Given the description of an element on the screen output the (x, y) to click on. 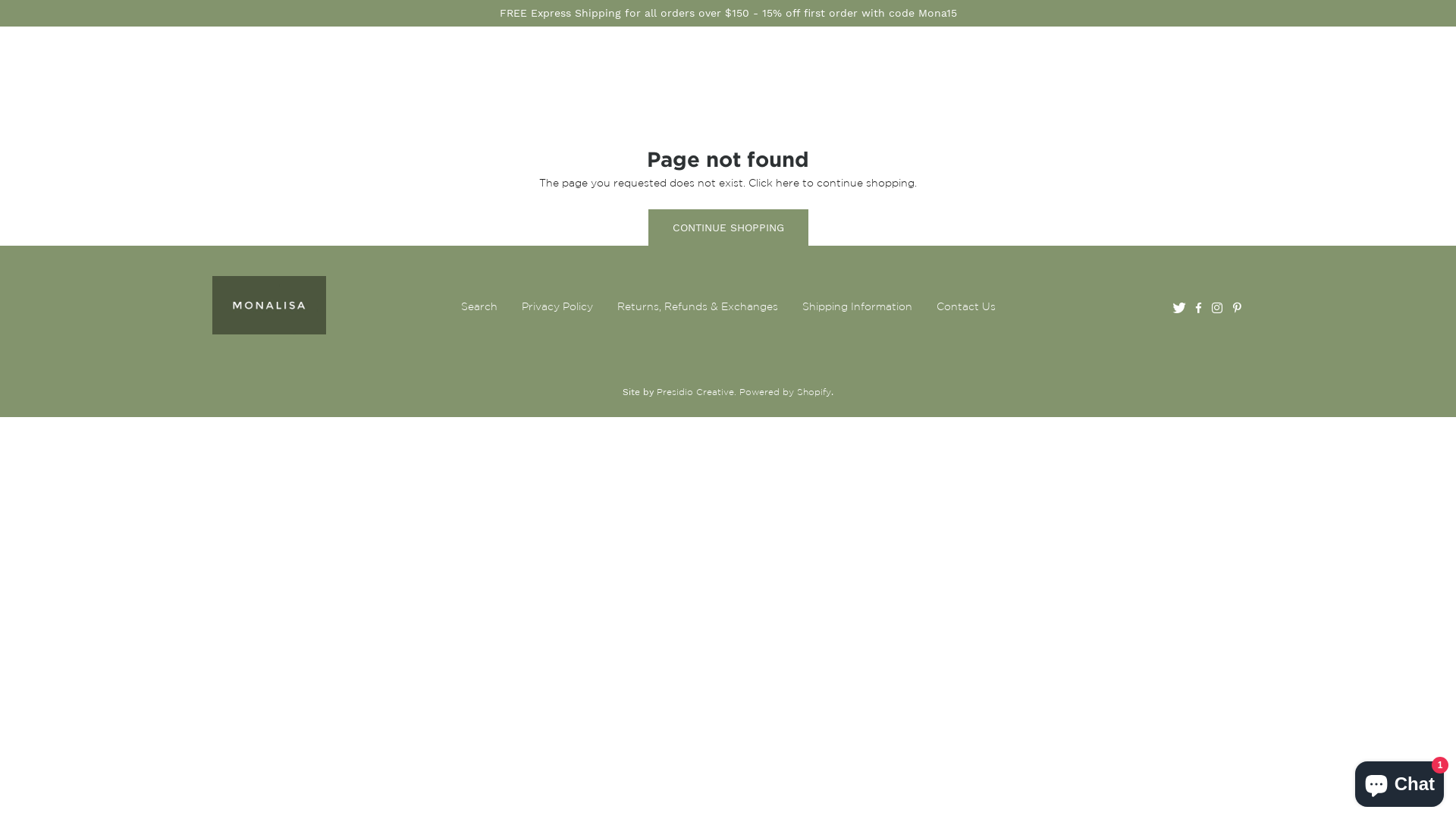
Twitter Element type: text (1178, 305)
Presidio Creative Element type: text (695, 391)
CONTINUE SHOPPING Element type: text (727, 227)
. Element type: text (736, 391)
Pinterest Element type: text (1238, 305)
Privacy Policy Element type: text (557, 305)
Search Element type: text (479, 305)
Shipping Information Element type: text (857, 305)
Instagram Element type: text (1216, 305)
Returns, Refunds & Exchanges Element type: text (697, 305)
Facebook Element type: text (1198, 305)
Shopify online store chat Element type: hover (1399, 780)
Contact Us Element type: text (964, 305)
Powered by Shopify Element type: text (785, 391)
